Given the description of an element on the screen output the (x, y) to click on. 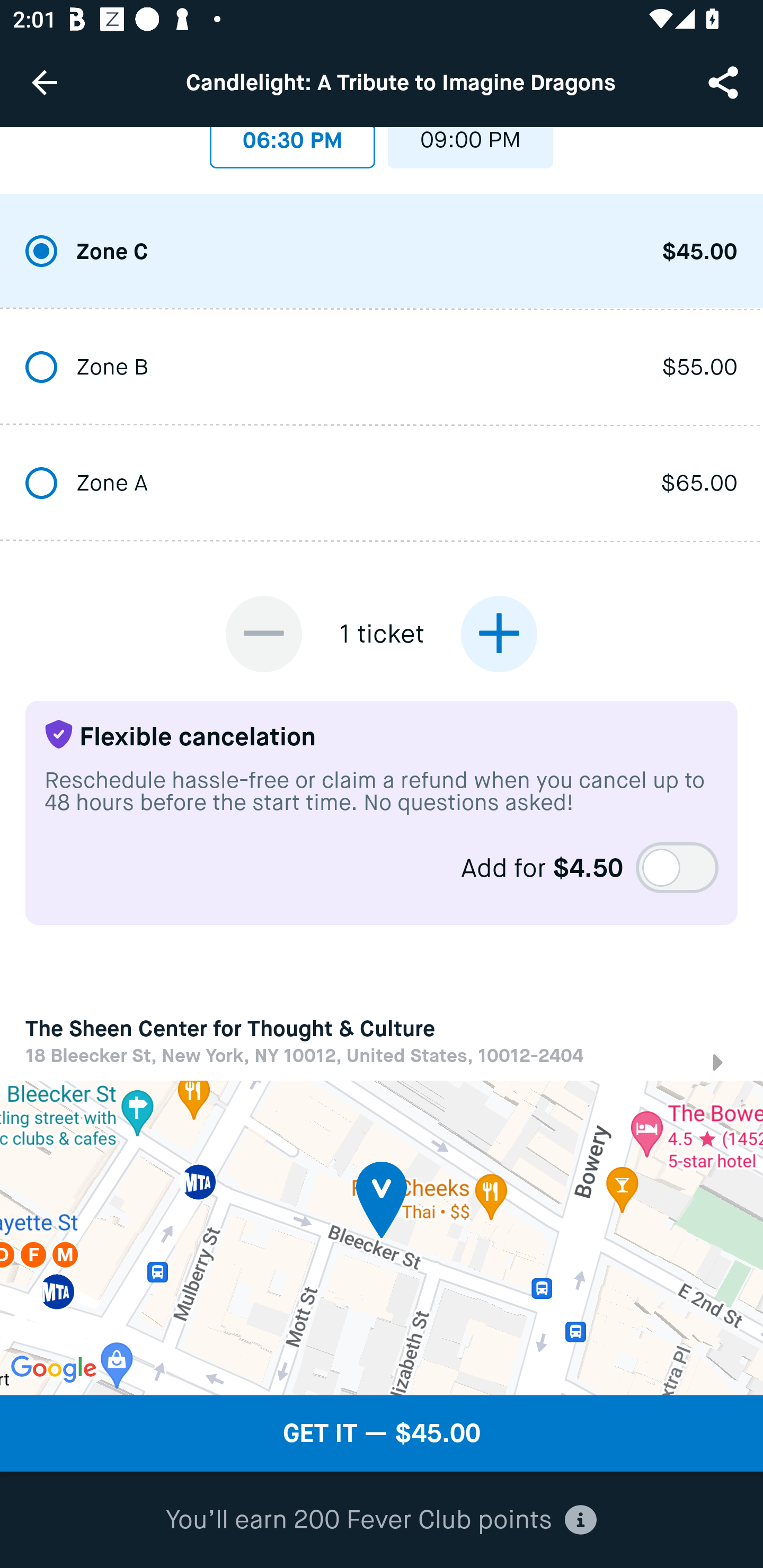
Navigate up (44, 82)
Share (724, 81)
06:30 PM (292, 147)
09:00 PM (470, 147)
Zone C $45.00 (381, 252)
Zone B $55.00 (381, 368)
Zone A $65.00 (381, 484)
decrease (263, 633)
increase (498, 633)
Google Map Map Marker (381, 1237)
GET IT — $45.00 (381, 1433)
You’ll earn 200 Fever Club points (380, 1519)
